Given the description of an element on the screen output the (x, y) to click on. 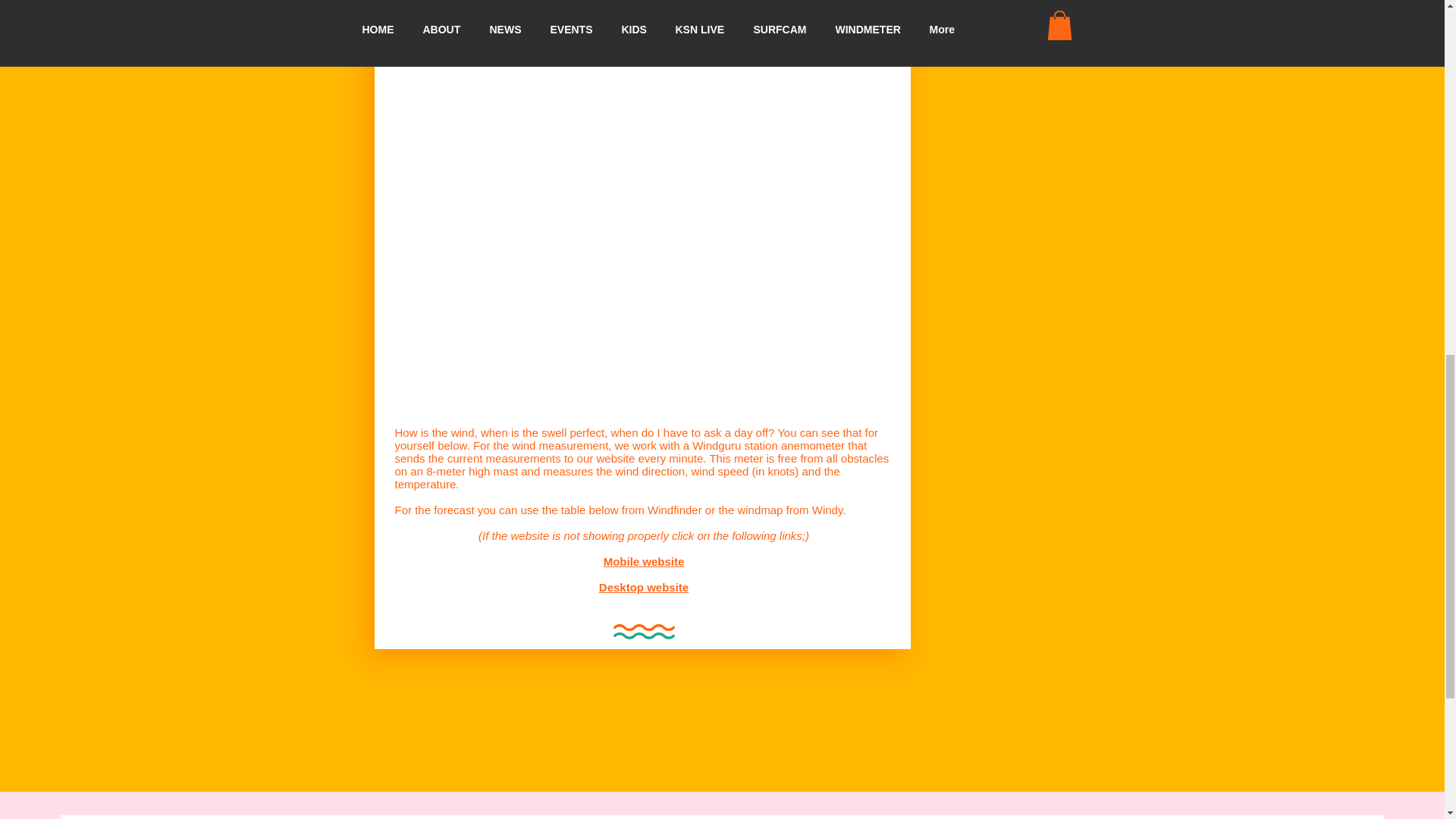
Mobile website (644, 561)
Desktop website (643, 586)
